Given the description of an element on the screen output the (x, y) to click on. 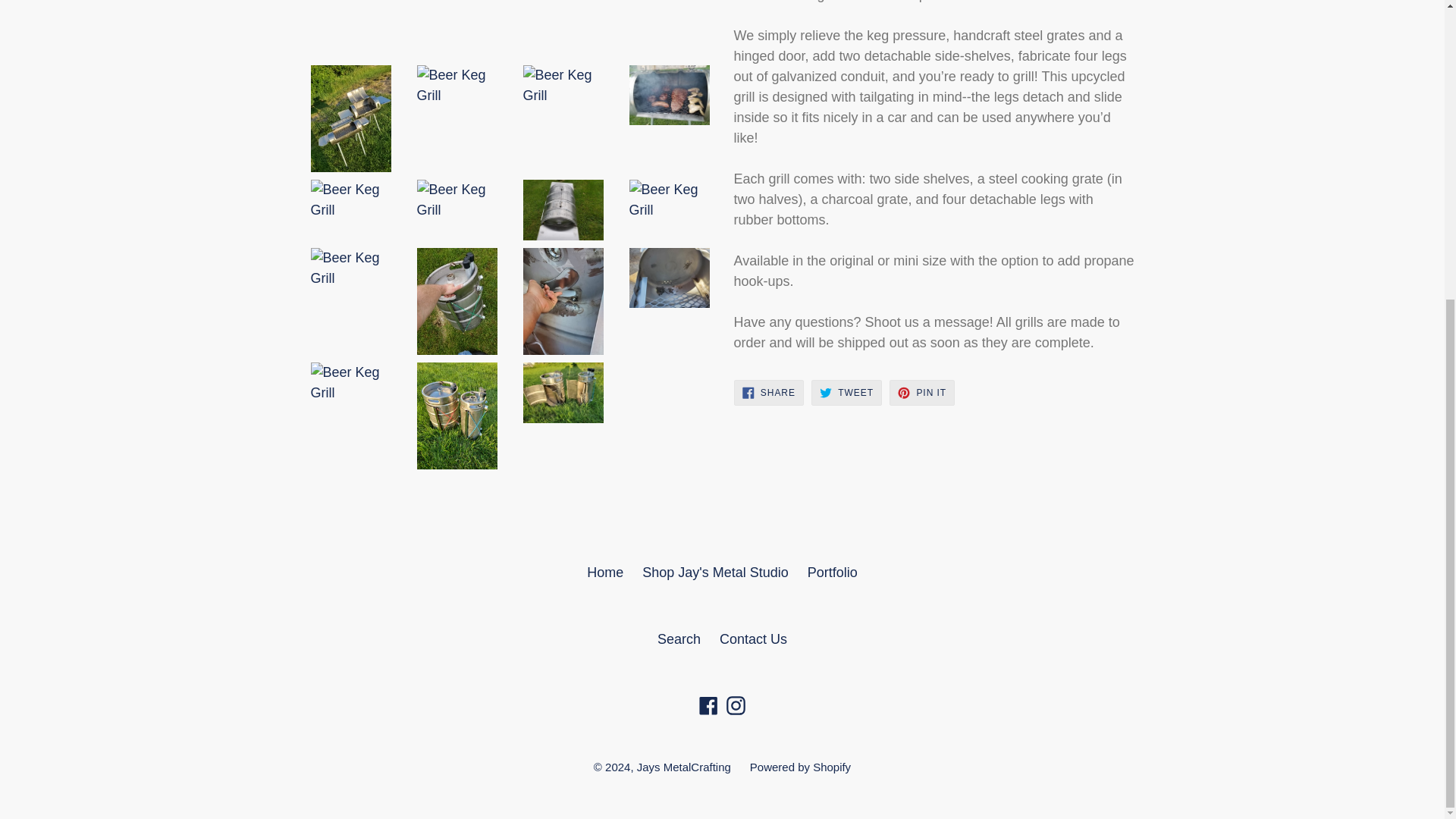
Home (846, 392)
Jays MetalCrafting on Instagram (604, 572)
Search (735, 704)
Tweet on Twitter (679, 639)
Pin on Pinterest (846, 392)
Portfolio (922, 392)
Shop Jay's Metal Studio (832, 572)
Share on Facebook (715, 572)
